Given the description of an element on the screen output the (x, y) to click on. 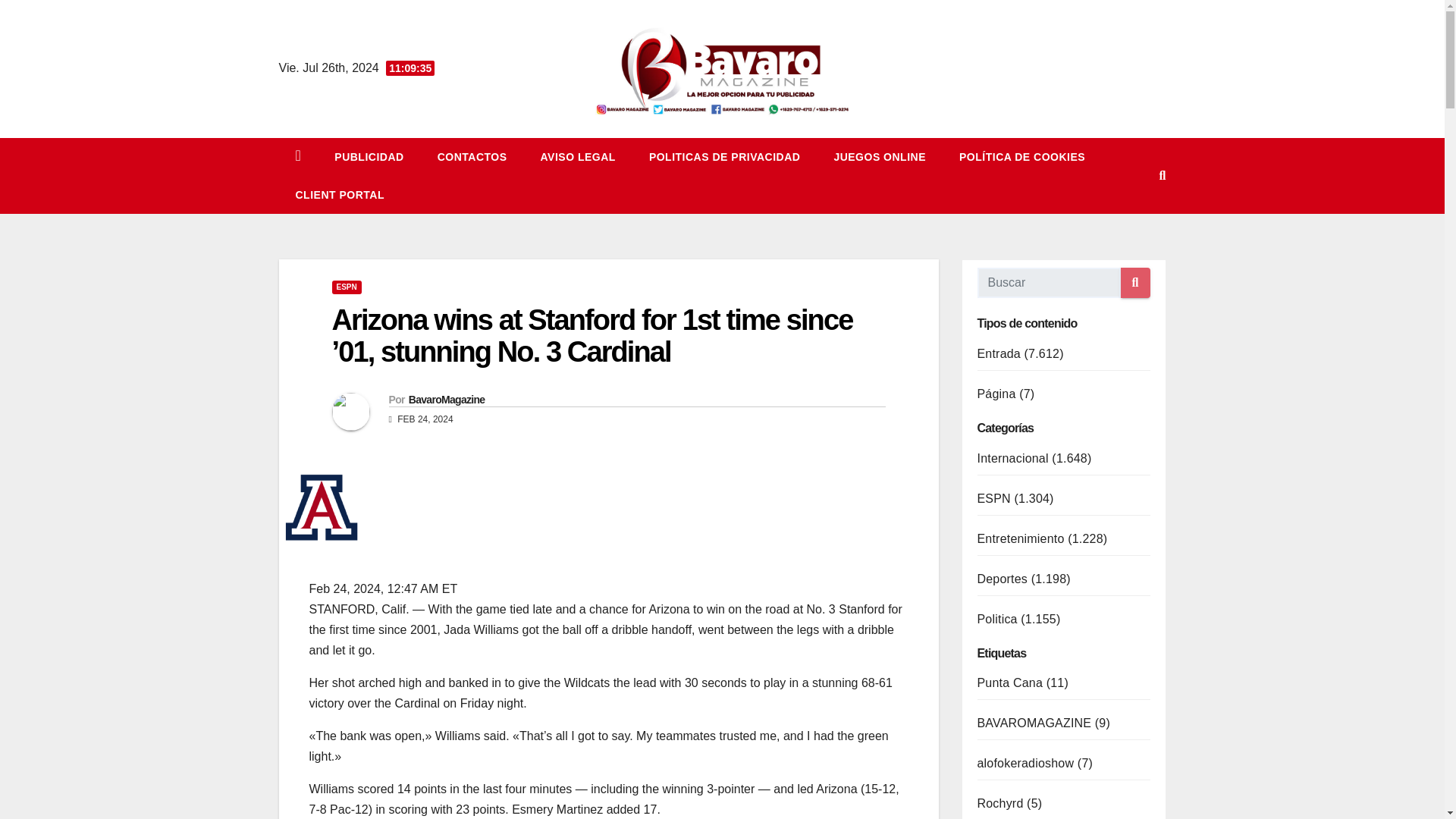
BavaroMagazine (446, 399)
CONTACTOS (472, 157)
POLITICAS DE PRIVACIDAD (723, 157)
AVISO LEGAL (577, 157)
PUBLICIDAD (368, 157)
POLITICAS DE PRIVACIDAD (723, 157)
JUEGOS ONLINE (879, 157)
AVISO LEGAL (577, 157)
Juegos Online (879, 157)
ESPN (346, 287)
CONTACTOS (472, 157)
PUBLICIDAD (368, 157)
CLIENT PORTAL (340, 194)
Client Portal (340, 194)
